Given the description of an element on the screen output the (x, y) to click on. 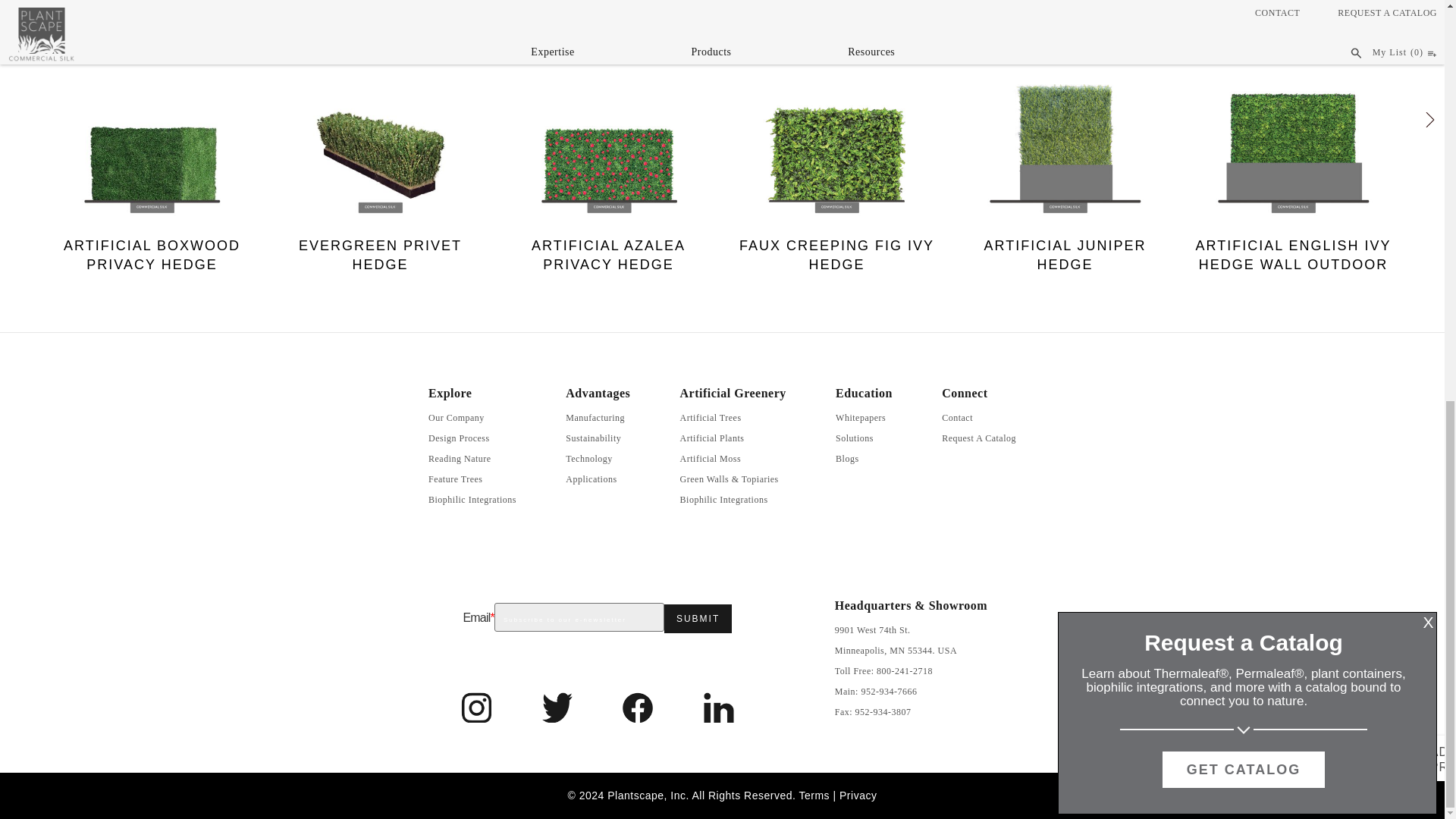
Submit (697, 618)
